Given the description of an element on the screen output the (x, y) to click on. 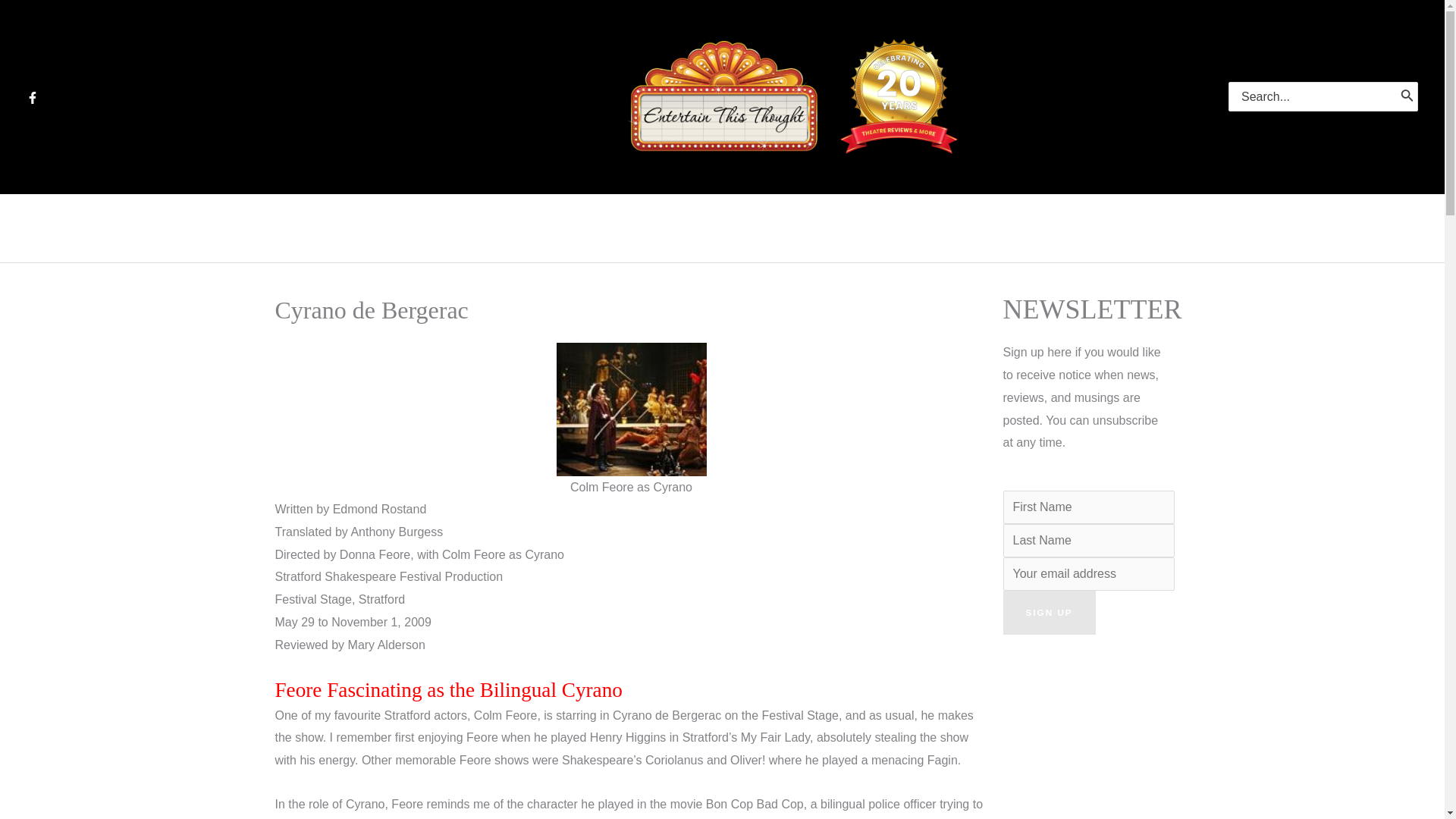
cyrano (631, 409)
Home (490, 227)
Archives (709, 227)
Now Playing (593, 227)
Sign up (1048, 612)
About (951, 227)
Advertisement (1086, 734)
Sign up (1048, 612)
